Given the description of an element on the screen output the (x, y) to click on. 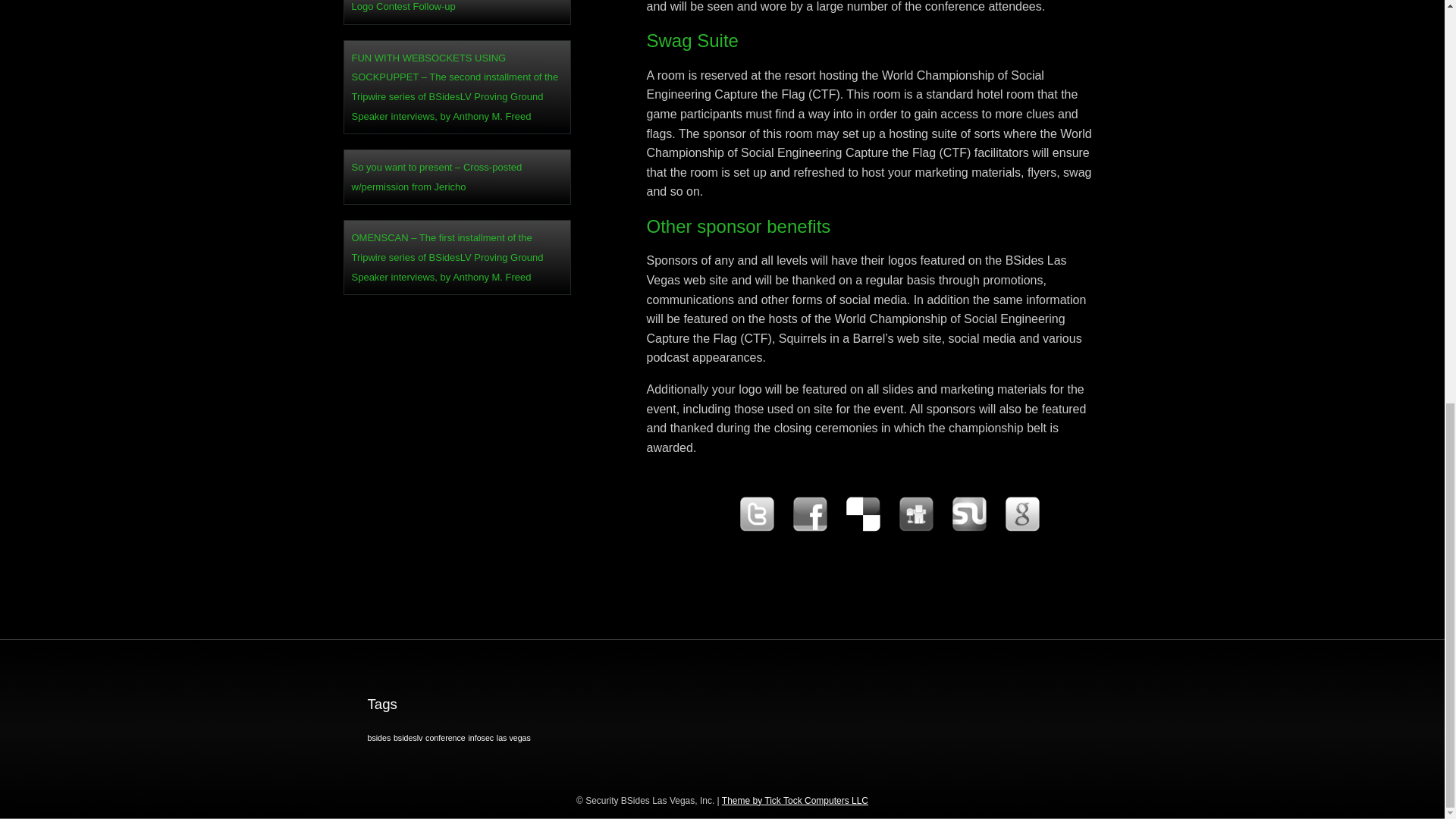
Submit to Digg (915, 529)
Designs by DigiP (794, 800)
Tweet this post (755, 529)
Logo Contest Follow-up (457, 8)
Share on Facebook (809, 529)
1 topic (408, 737)
Bookmark on delicious (861, 529)
1 topic (445, 737)
Save to Google bookmarks (1022, 529)
1 topic (513, 737)
Submit to stumbleupon (968, 529)
1 topic (378, 737)
1 topic (480, 737)
